Given the description of an element on the screen output the (x, y) to click on. 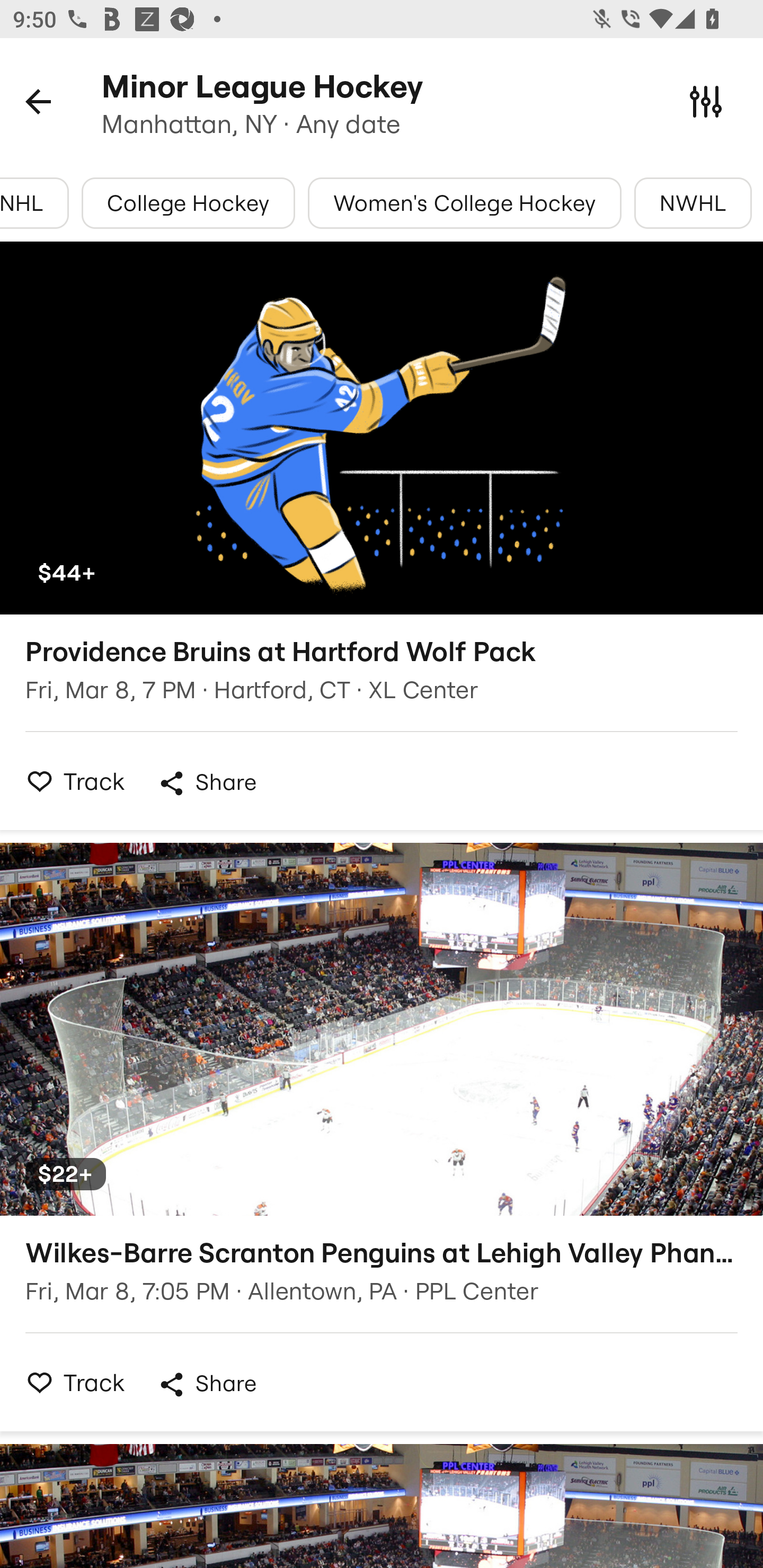
Back (38, 100)
Filters (705, 100)
College Hockey (188, 202)
Women's College Hockey (464, 202)
NWHL (692, 202)
Track (70, 780)
Share (207, 783)
Track (70, 1381)
Share (207, 1384)
